Given the description of an element on the screen output the (x, y) to click on. 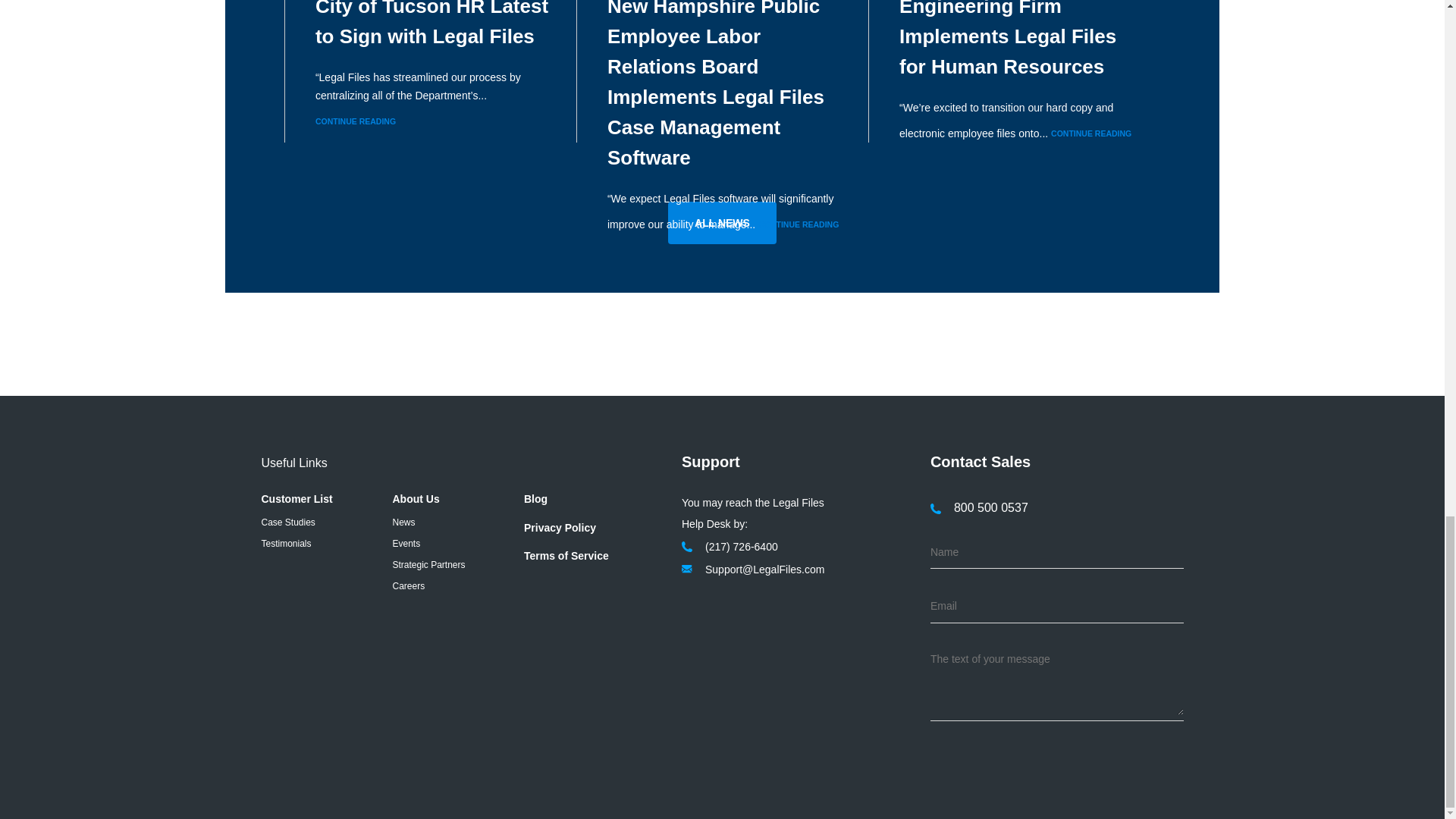
CONTINUE READING (1091, 133)
News (402, 521)
Customer List (295, 499)
CONTINUE READING (798, 224)
Engineering Firm Implements Legal Files for Human Resources (1007, 38)
City of Tucson HR Latest to Sign with Legal Files (431, 23)
About Us (415, 499)
ALL NEWS (722, 222)
Testimonials (285, 543)
